Given the description of an element on the screen output the (x, y) to click on. 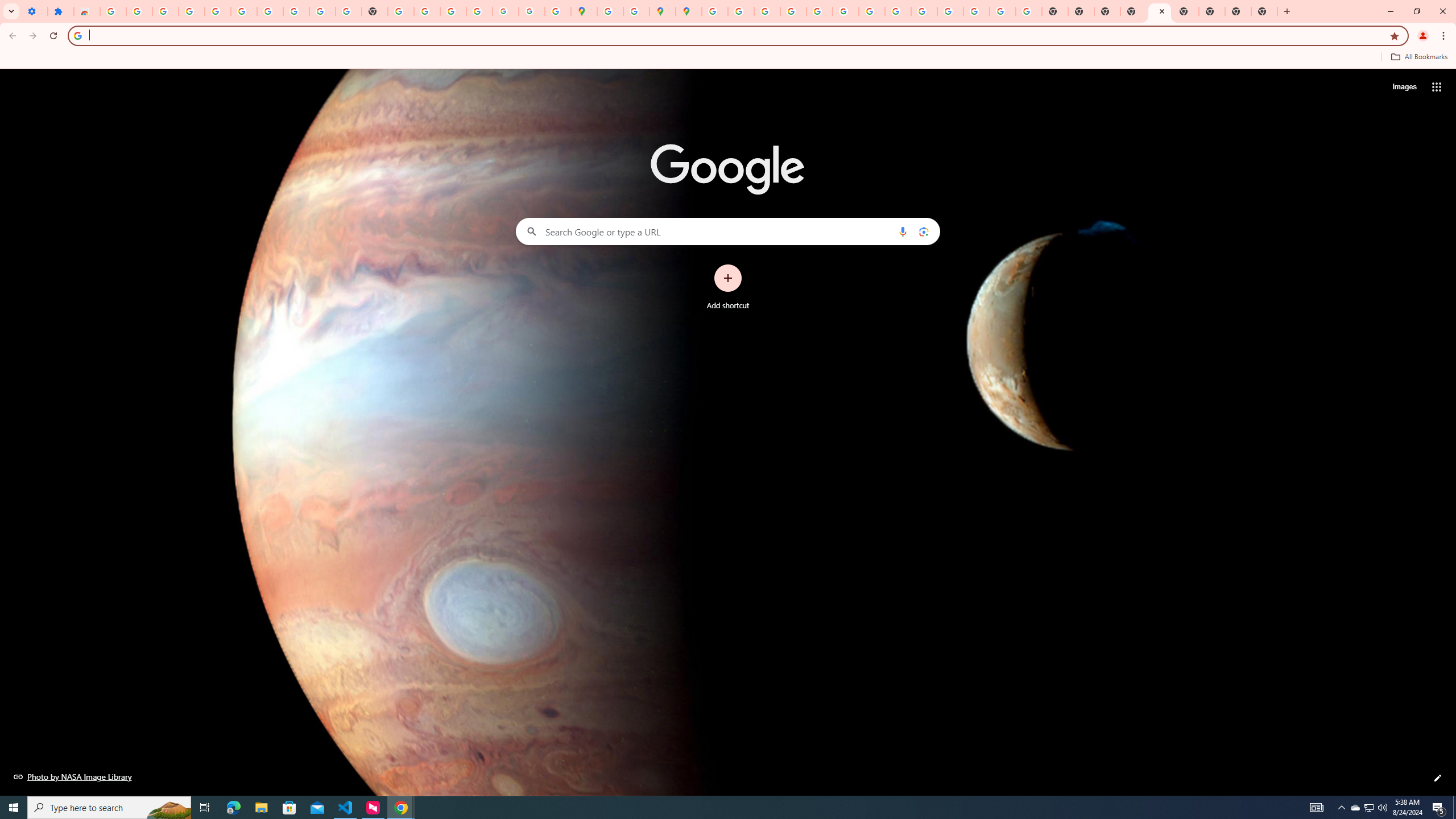
Extensions (60, 11)
Search for Images  (1403, 87)
Google Maps (584, 11)
Privacy Help Center - Policies Help (792, 11)
Settings - On startup (34, 11)
Search Google or type a URL (727, 230)
Sign in - Google Accounts (715, 11)
YouTube (871, 11)
Chrome (1445, 35)
Reviews: Helix Fruit Jump Arcade Game (86, 11)
